Given the description of an element on the screen output the (x, y) to click on. 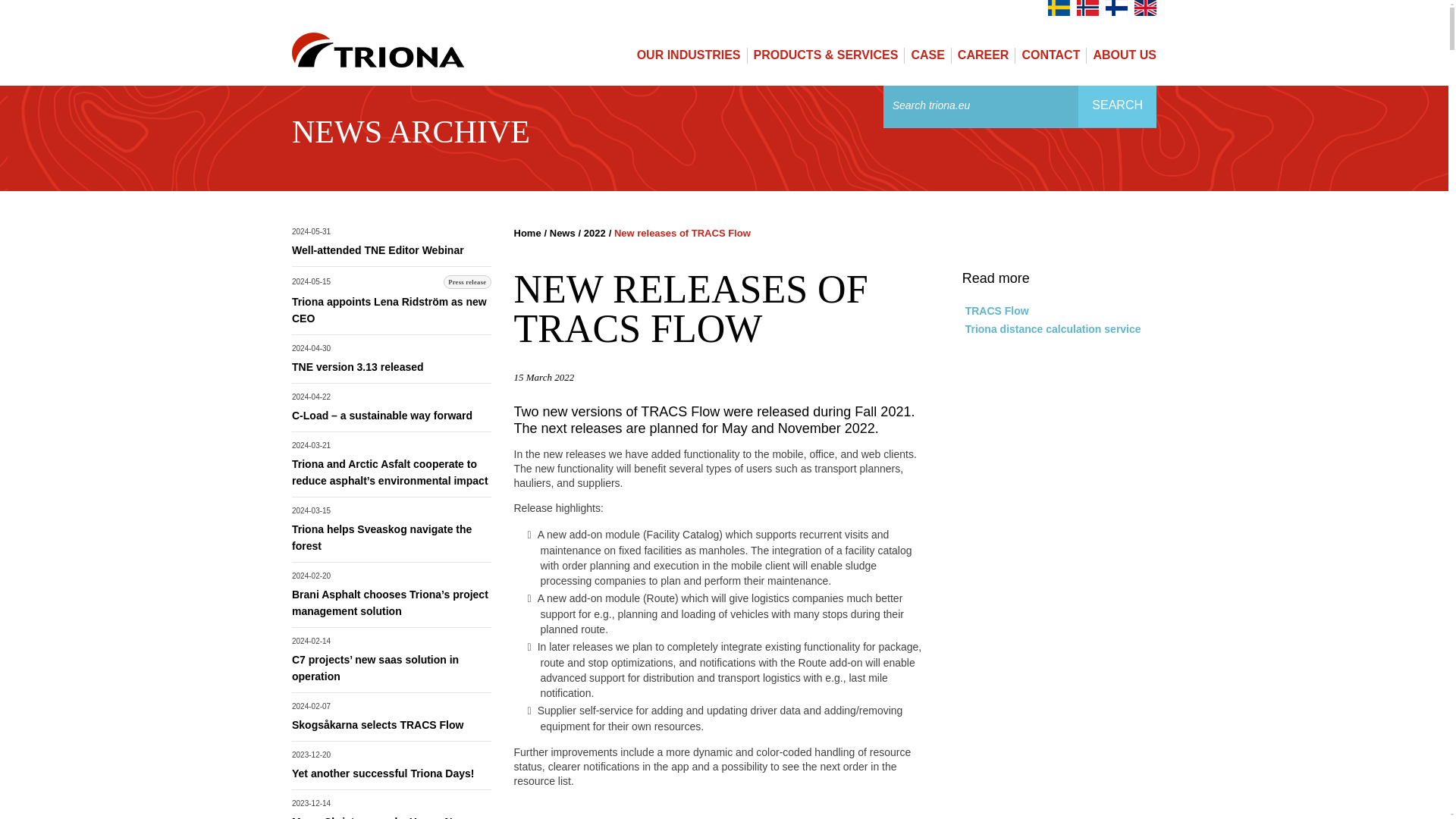
CASE (927, 55)
Triona helps Sveaskog navigate the forest (381, 537)
TNE version 3.13 released (357, 367)
Well-attended TNE Editor Webinar (378, 250)
Merry Christmas and a Happy New Year (378, 817)
Yet another successful Triona Days! (383, 773)
OUR INDUSTRIES (689, 55)
